Given the description of an element on the screen output the (x, y) to click on. 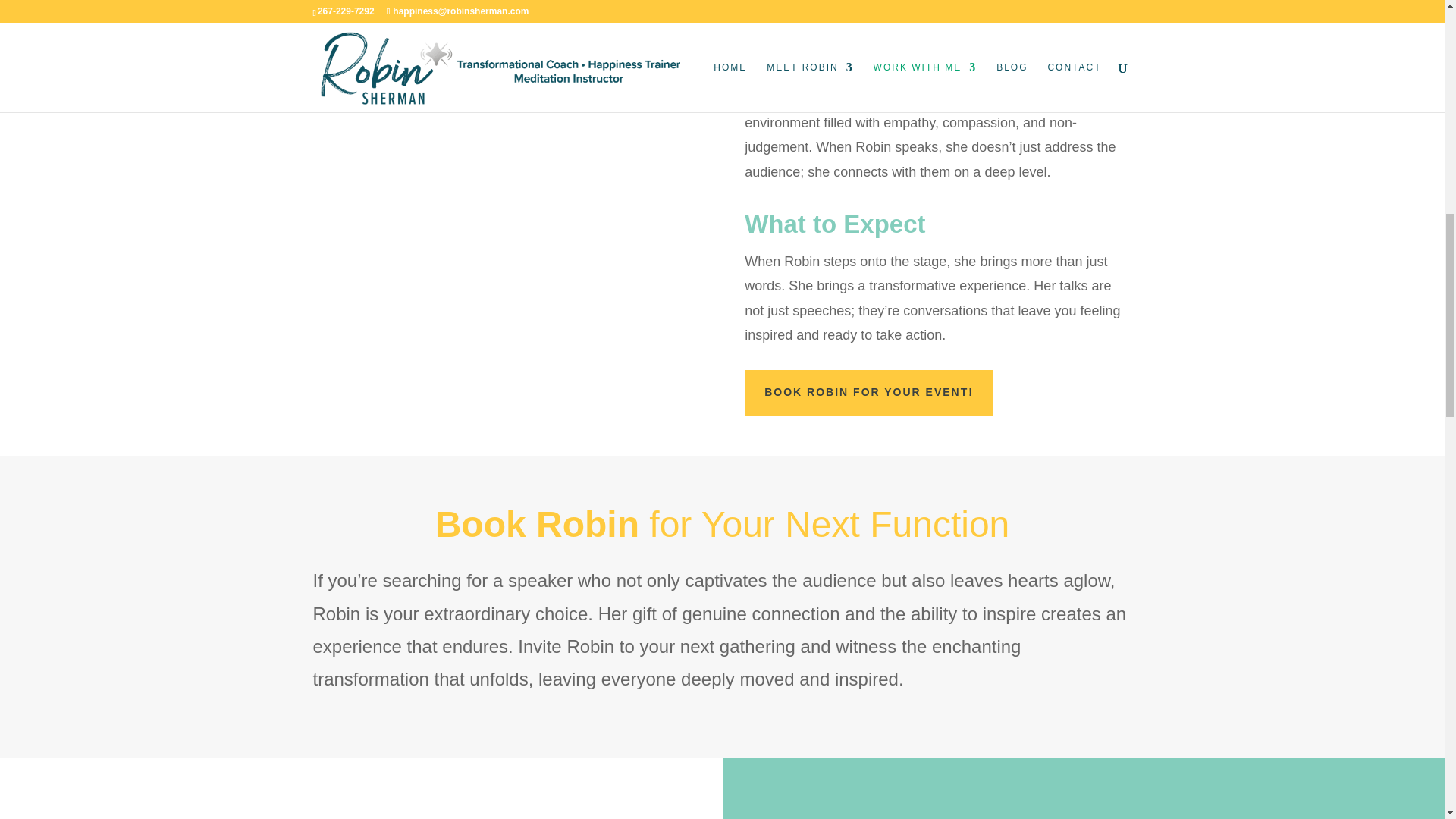
BOOK ROBIN FOR YOUR EVENT! (868, 392)
